Given the description of an element on the screen output the (x, y) to click on. 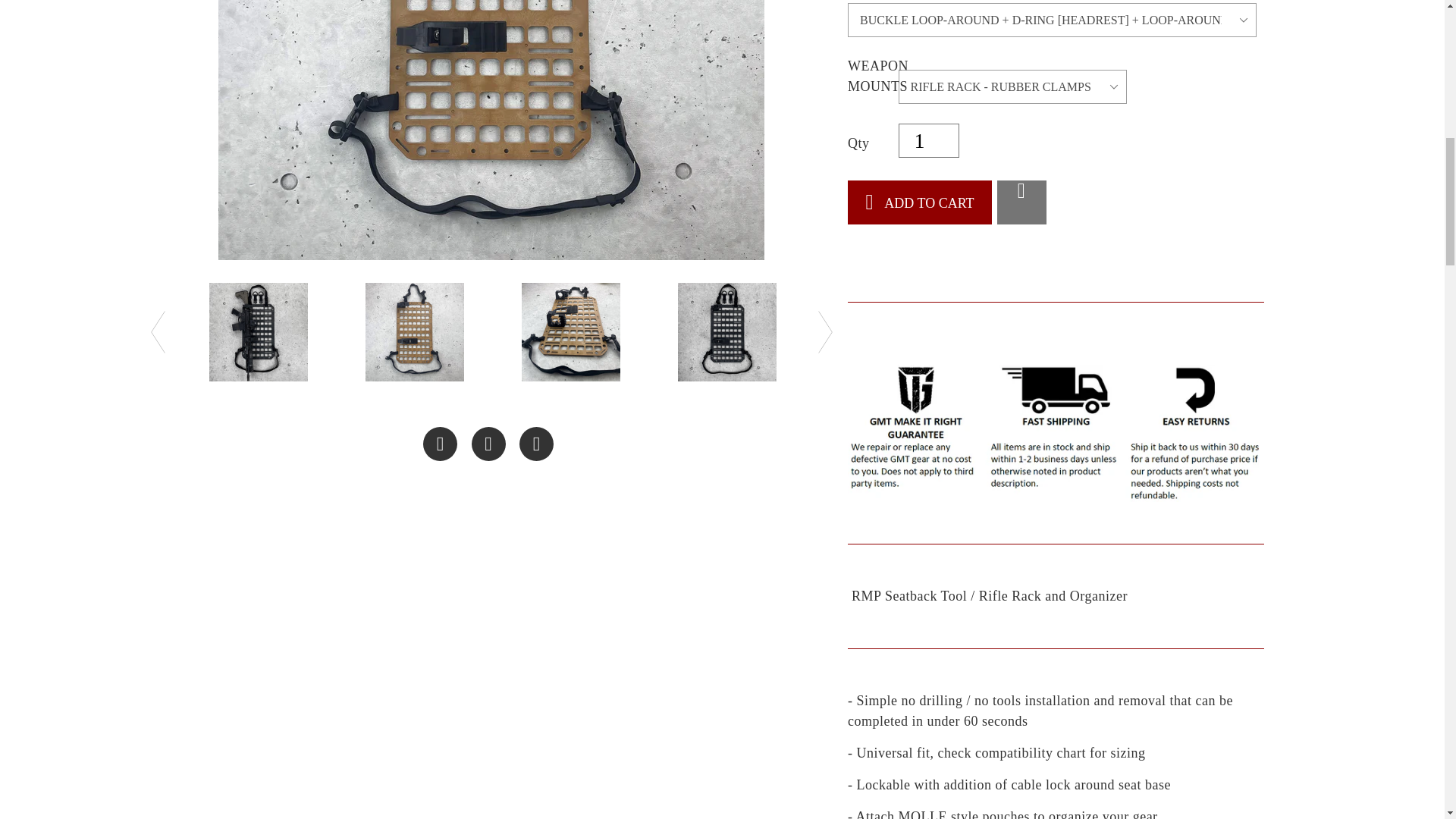
Pin on Pinterest (536, 443)
1 (928, 140)
Tweet on Twitter (488, 443)
Share on Facebook (440, 443)
